Given the description of an element on the screen output the (x, y) to click on. 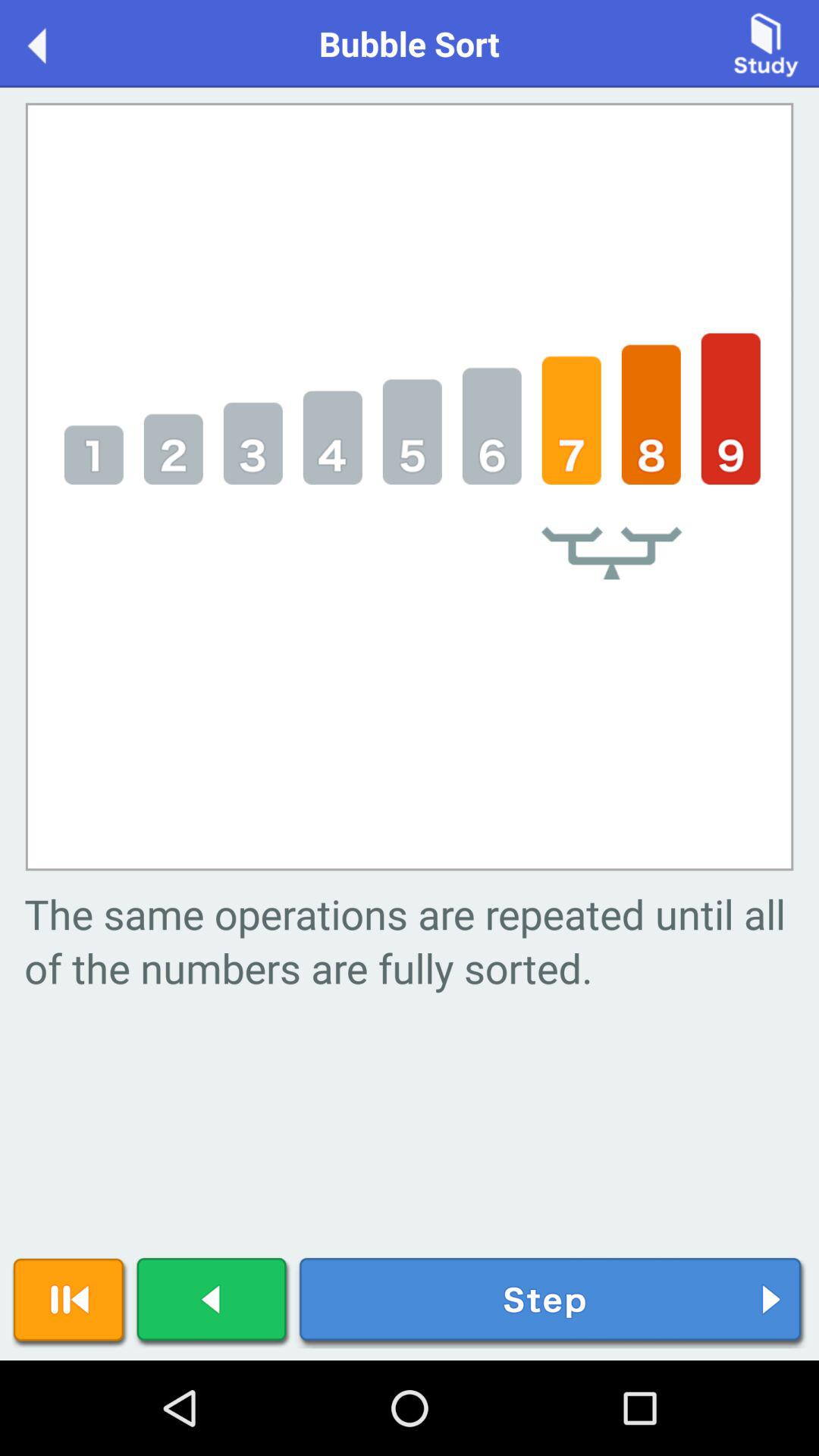
pause play (70, 1303)
